Given the description of an element on the screen output the (x, y) to click on. 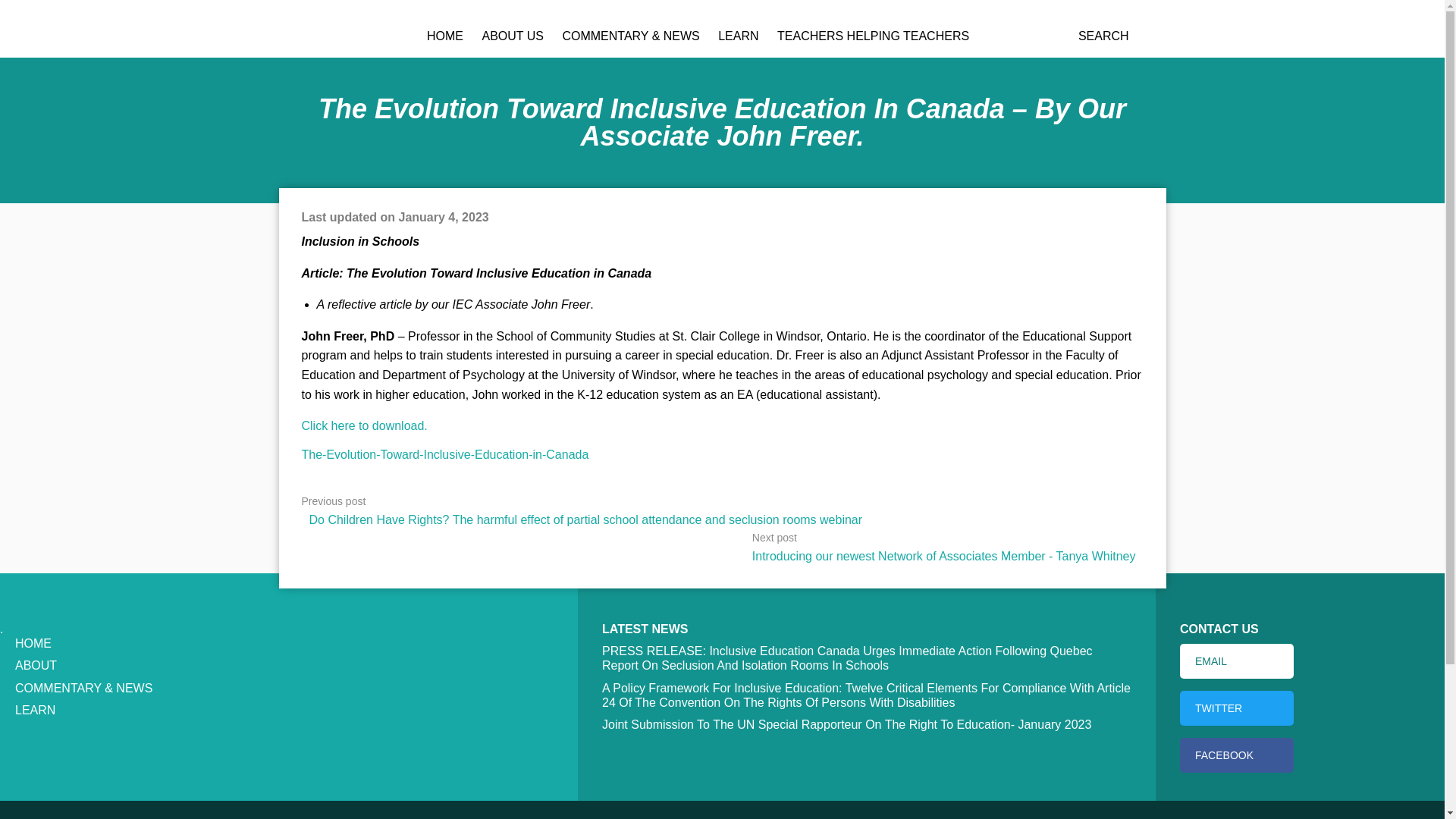
SEARCH (1101, 35)
ABOUT US (512, 35)
LEARN (34, 709)
LEARN (737, 35)
TEACHERS HELPING TEACHERS (873, 35)
EMAIL (1236, 660)
